Given the description of an element on the screen output the (x, y) to click on. 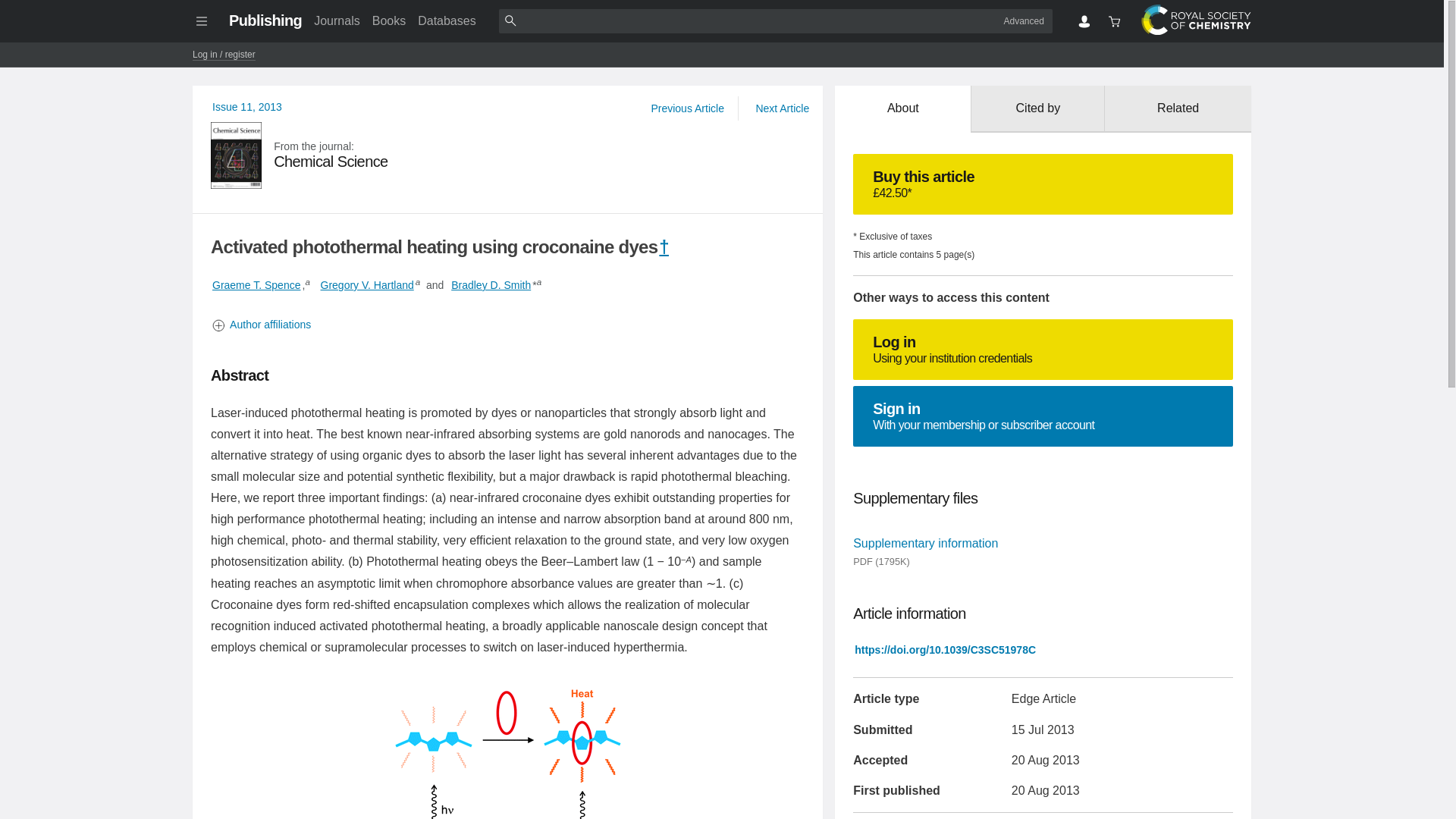
Gregory V. Hartland (366, 284)
Issue 11, 2013 (1043, 415)
Previous Article (247, 106)
Author affiliations (687, 107)
Link to landing page via DOI (1043, 349)
Issue 11, 2013 (508, 324)
Journals (944, 649)
Advanced (247, 106)
Cited by (336, 20)
Publishing (1023, 20)
About (1037, 108)
Graeme T. Spence (264, 20)
Databases (902, 108)
